Given the description of an element on the screen output the (x, y) to click on. 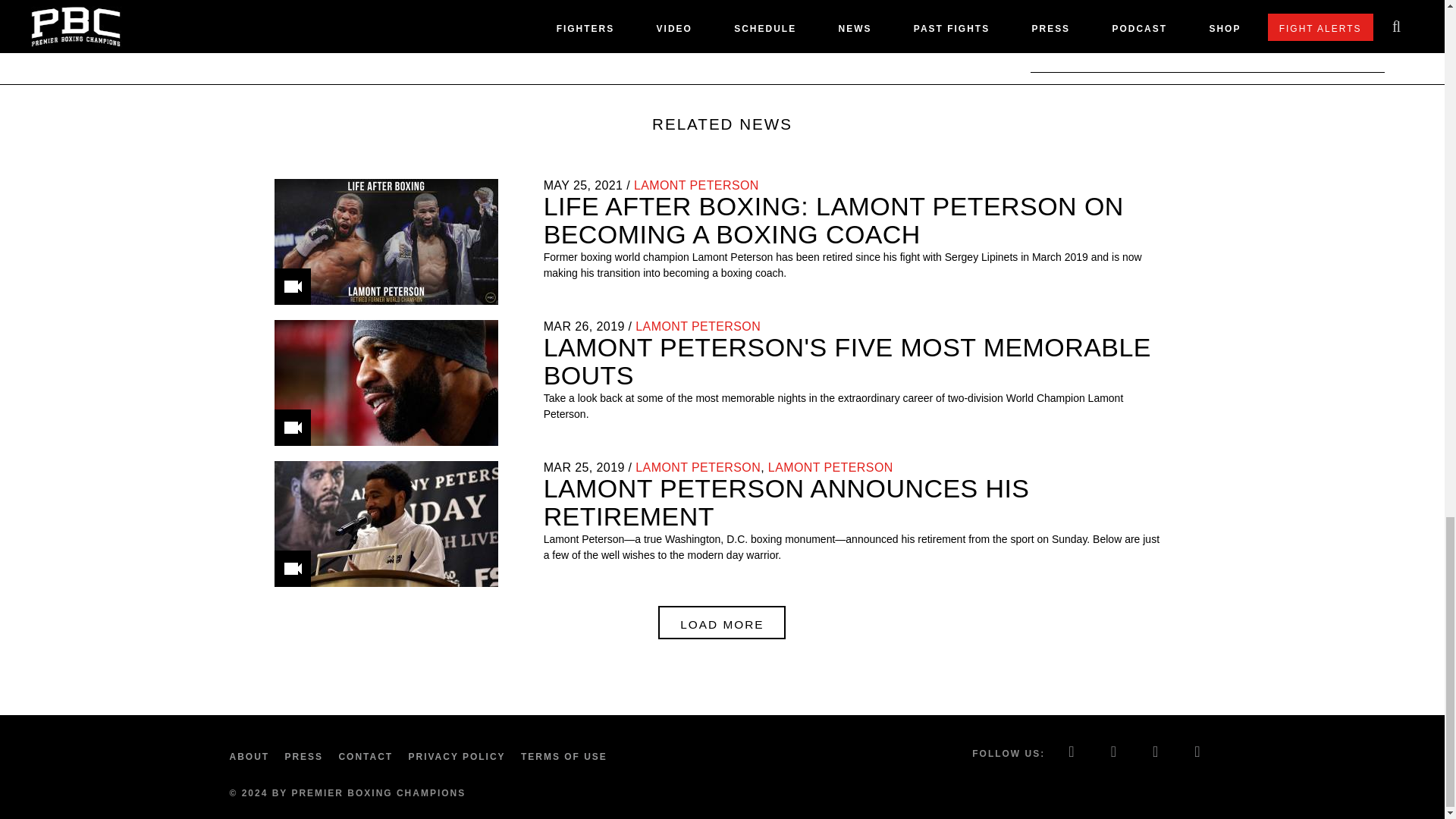
Facebook (1071, 753)
Twitter (1114, 753)
March (557, 326)
March (557, 467)
May (556, 185)
You Tube (1197, 753)
Instagram (1155, 753)
CANELO VS. CHARLO: THE BREAKDOWN (1153, 38)
